Given the description of an element on the screen output the (x, y) to click on. 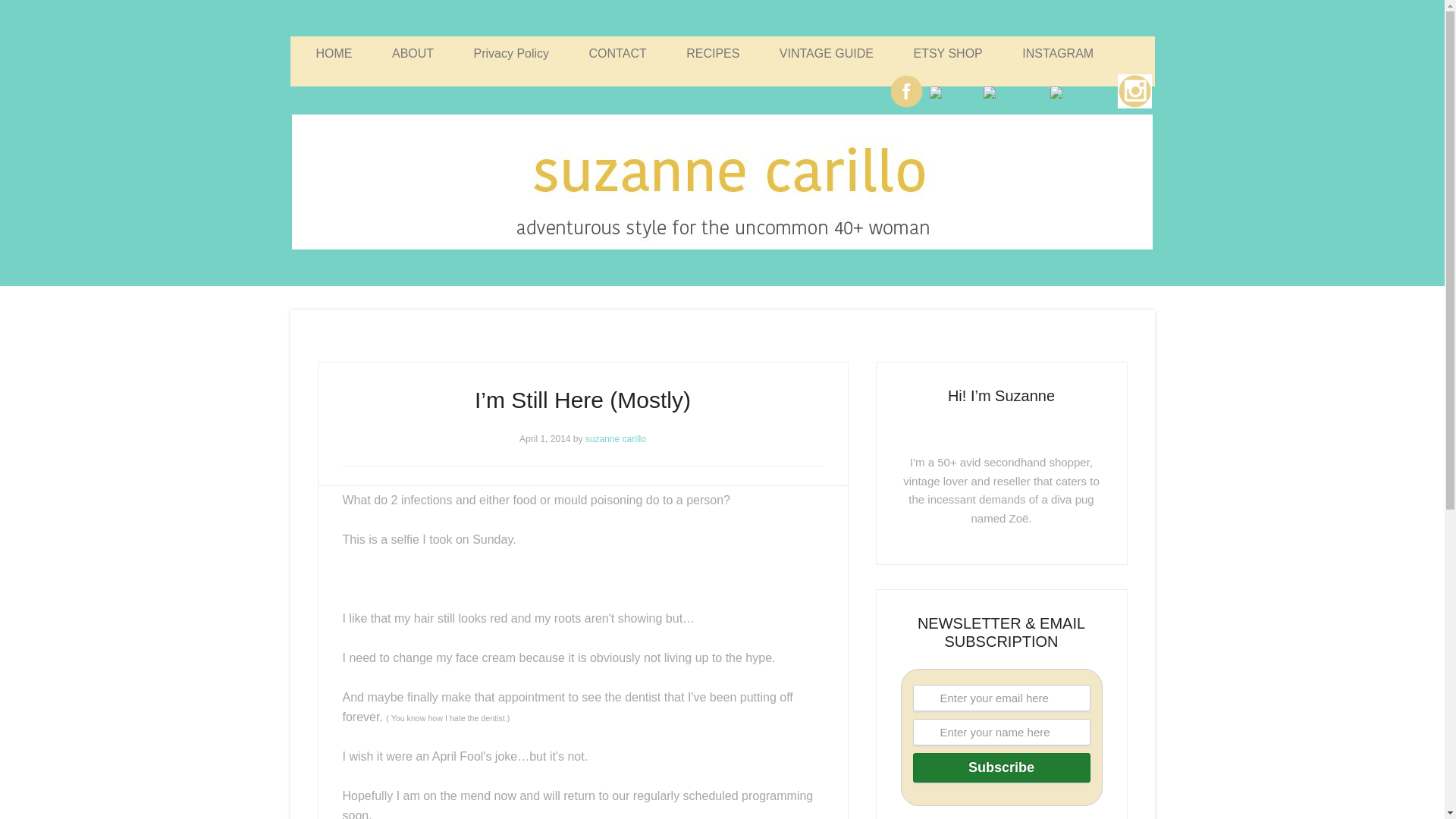
RECIPES (712, 53)
ABOUT (412, 53)
Instagram (1134, 91)
Facebook (906, 106)
Facebook (906, 91)
VINTAGE GUIDE (826, 53)
Enter your name here (1001, 732)
Suzanne Carillo (721, 181)
Fun Fast Simple Healthy Recipes (712, 53)
Instagram (1134, 106)
Subscribe (1001, 767)
Pinterest (1013, 92)
CONTACT (617, 53)
INSTAGRAM (1057, 53)
suzanne carillo (615, 439)
